Given the description of an element on the screen output the (x, y) to click on. 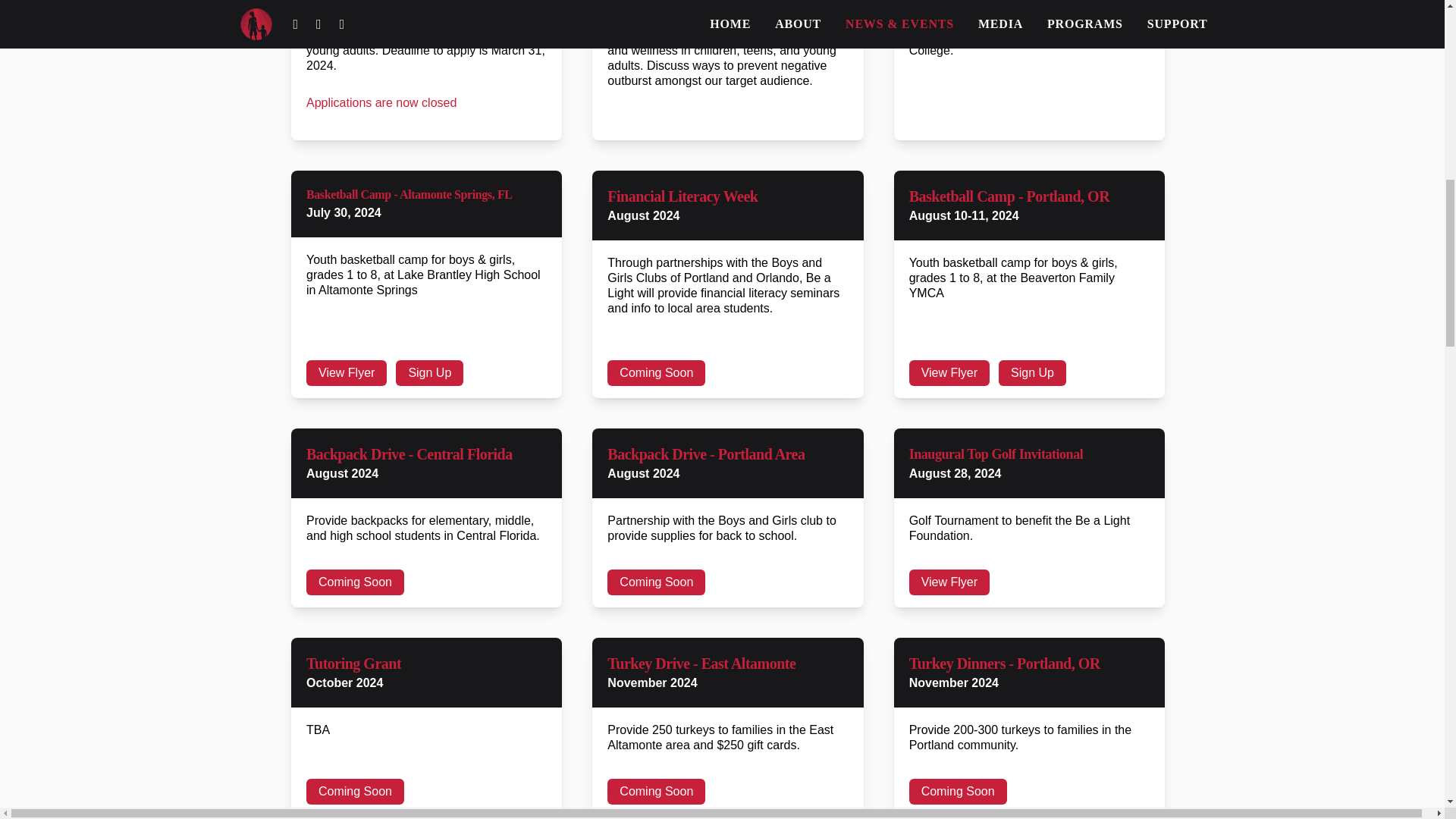
Coming Soon (655, 791)
Coming Soon (354, 582)
Sign Up (429, 372)
Coming Soon (957, 791)
View Flyer (949, 582)
Sign Up (1031, 372)
View Flyer (949, 372)
Coming Soon (354, 791)
Coming Soon (655, 582)
Coming Soon (655, 372)
